Given the description of an element on the screen output the (x, y) to click on. 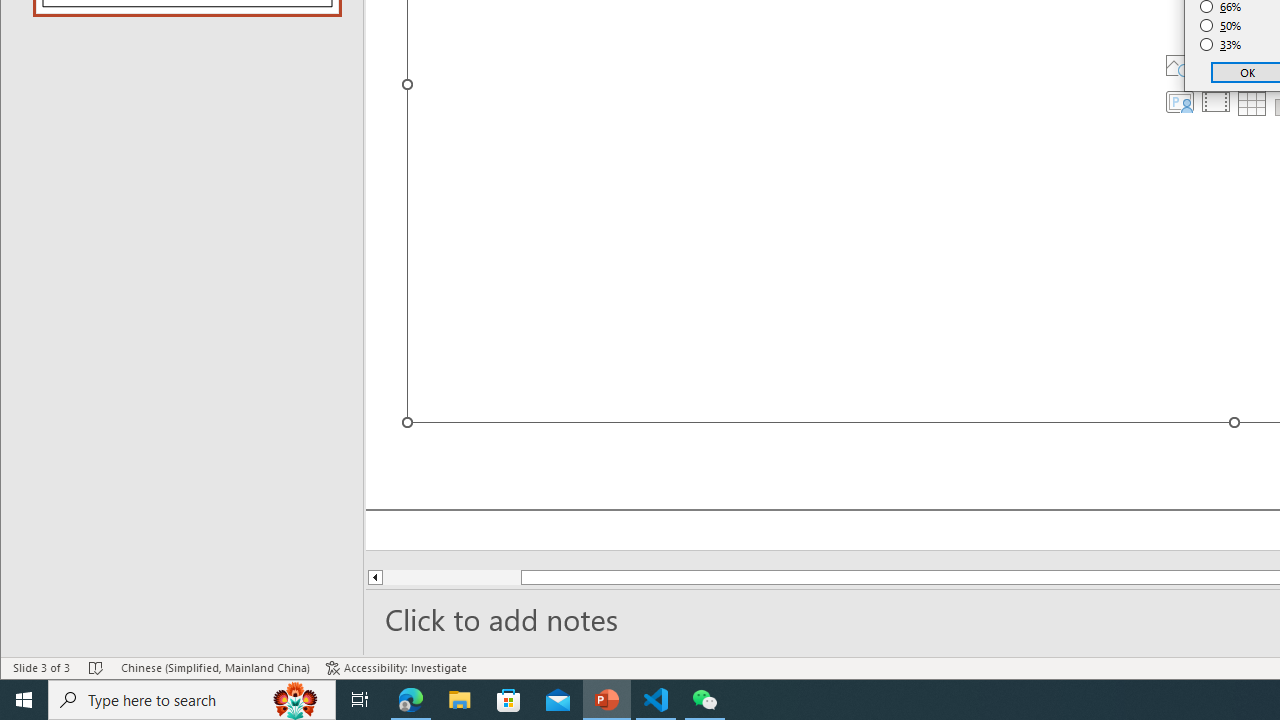
33% (1221, 44)
50% (1221, 25)
